Given the description of an element on the screen output the (x, y) to click on. 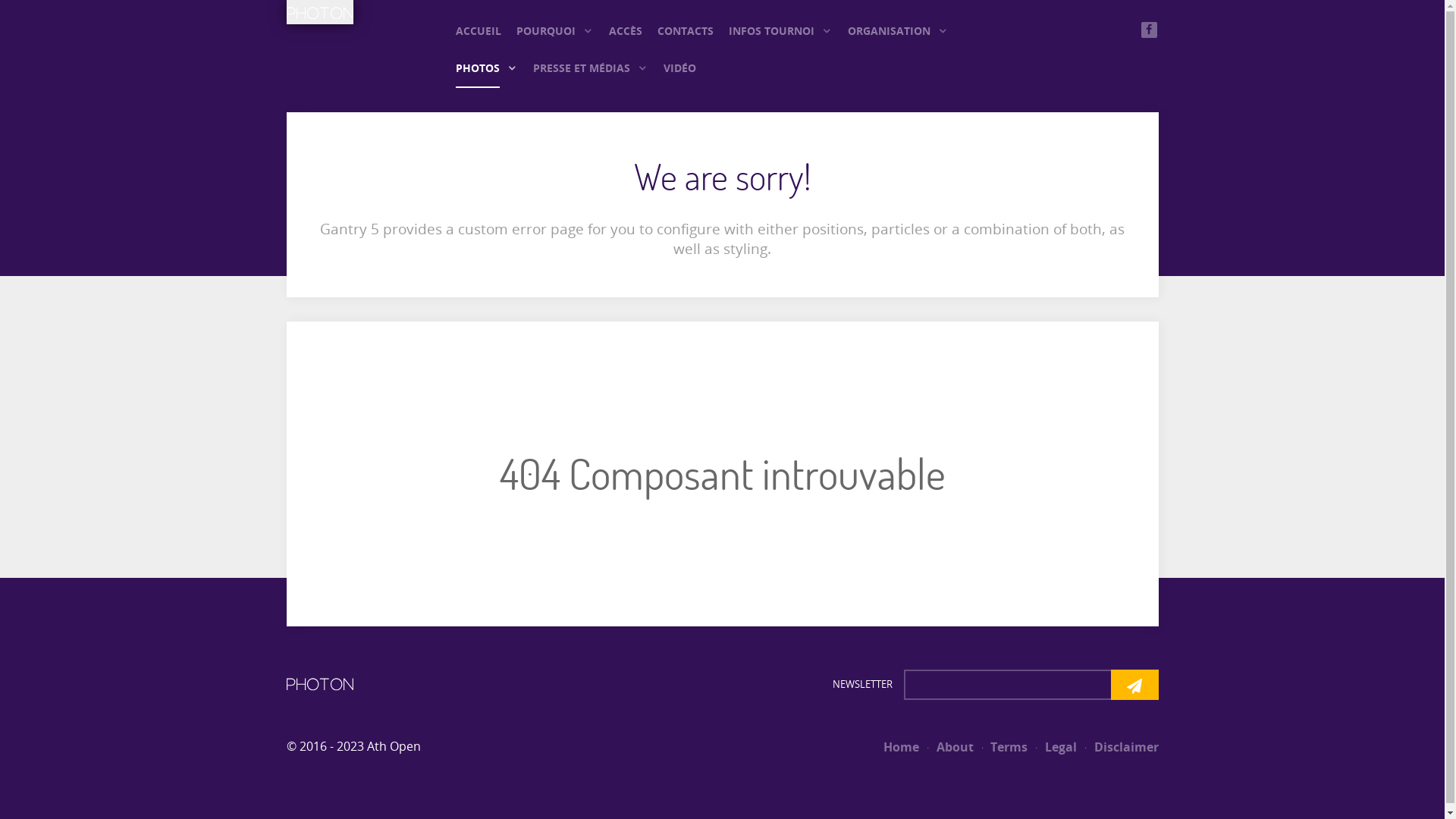
Home Element type: text (901, 746)
About Element type: text (947, 746)
Terms Element type: text (1002, 746)
Legal Element type: text (1053, 746)
CONTACTS Element type: text (684, 30)
Disclaimer Element type: text (1118, 746)
Photon Element type: hover (319, 682)
ACCUEIL Element type: text (477, 30)
